Given the description of an element on the screen output the (x, y) to click on. 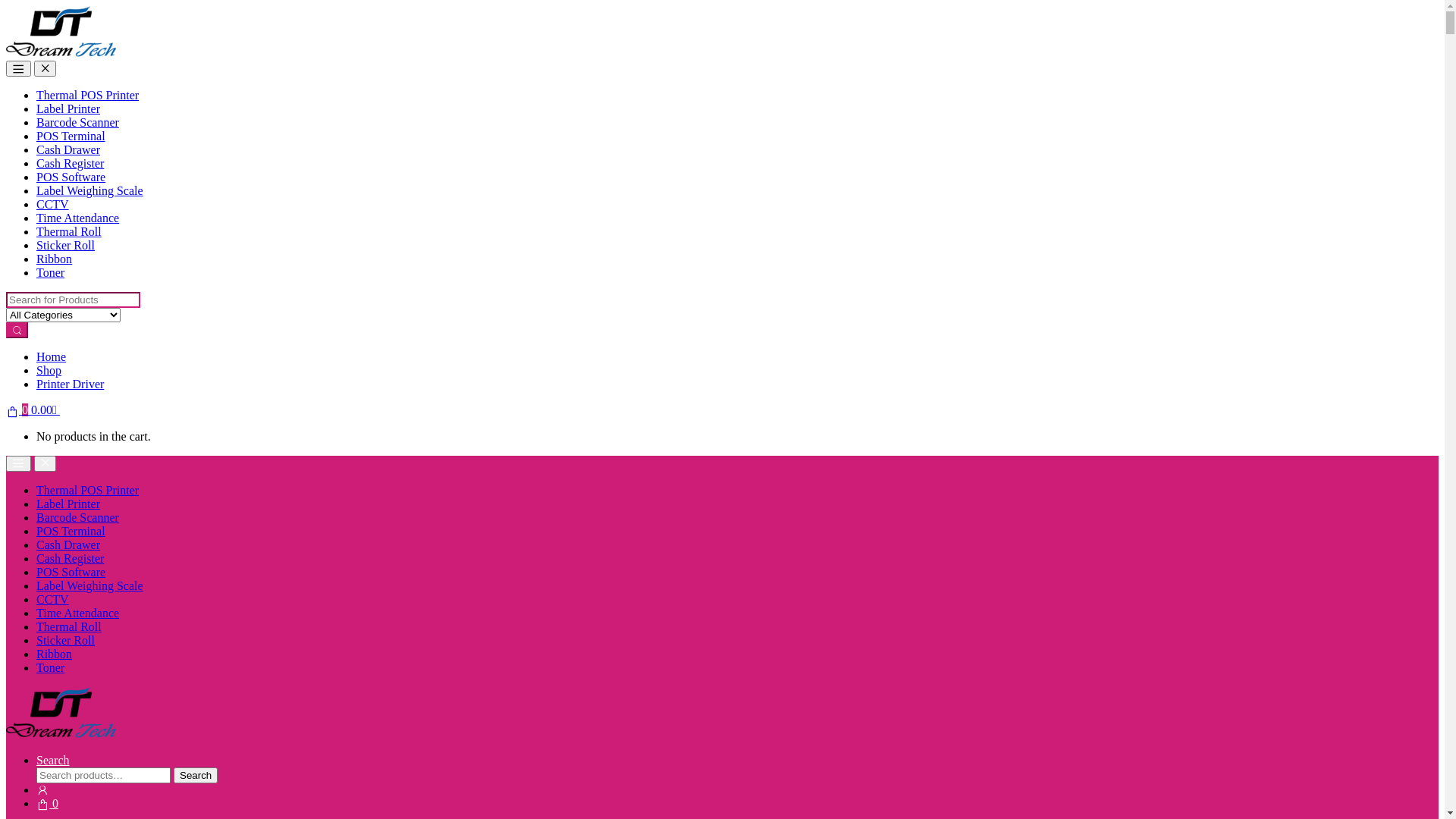
Shop Element type: text (48, 370)
Barcode Scanner Element type: text (77, 122)
Thermal Roll Element type: text (68, 626)
Cash Drawer Element type: text (68, 544)
Label Weighing Scale Element type: text (89, 190)
Toner Element type: text (50, 272)
Toner Element type: text (50, 667)
Label Weighing Scale Element type: text (89, 585)
POS Terminal Element type: text (70, 135)
Time Attendance Element type: text (77, 612)
Thermal POS Printer Element type: text (87, 94)
POS Software Element type: text (70, 571)
Thermal POS Printer Element type: text (87, 489)
Search Element type: text (52, 759)
Time Attendance Element type: text (77, 217)
POS Software Element type: text (70, 176)
Label Printer Element type: text (68, 503)
Ribbon Element type: text (54, 258)
POS Terminal Element type: text (70, 530)
CCTV Element type: text (52, 203)
Barcode Scanner Element type: text (77, 517)
Home Element type: text (50, 356)
CCTV Element type: text (52, 599)
Cash Register Element type: text (69, 162)
0 Element type: text (47, 803)
Cash Register Element type: text (69, 558)
Sticker Roll Element type: text (65, 244)
Thermal Roll Element type: text (68, 231)
Ribbon Element type: text (54, 653)
Cash Drawer Element type: text (68, 149)
Search Element type: text (195, 775)
Sticker Roll Element type: text (65, 639)
Printer Driver Element type: text (69, 383)
Label Printer Element type: text (68, 108)
